Given the description of an element on the screen output the (x, y) to click on. 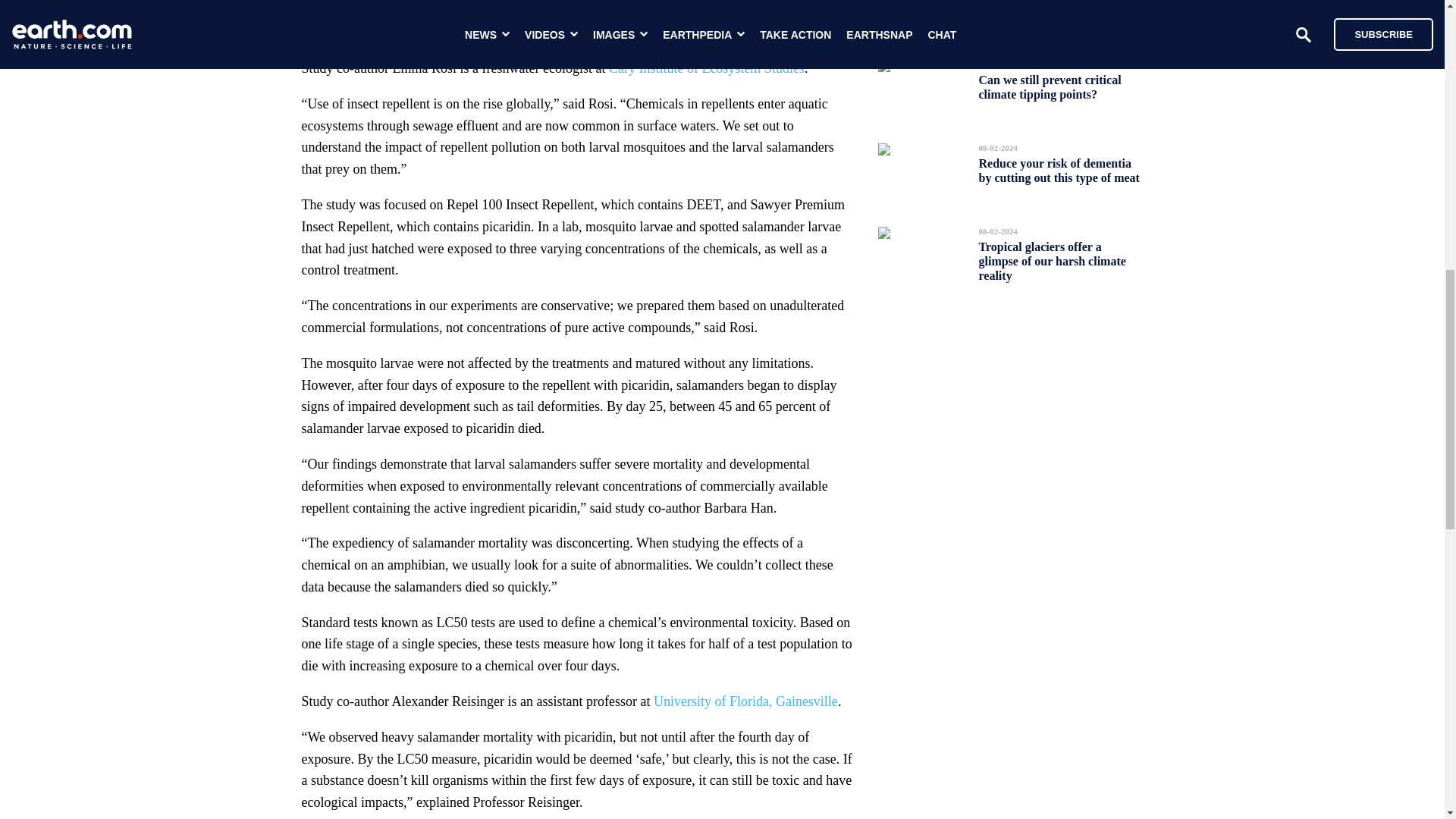
University of Florida, Gainesville (745, 701)
Can we still prevent critical climate tipping points? (1049, 87)
Cary Institute of Ecosystem Studies (706, 68)
